Given the description of an element on the screen output the (x, y) to click on. 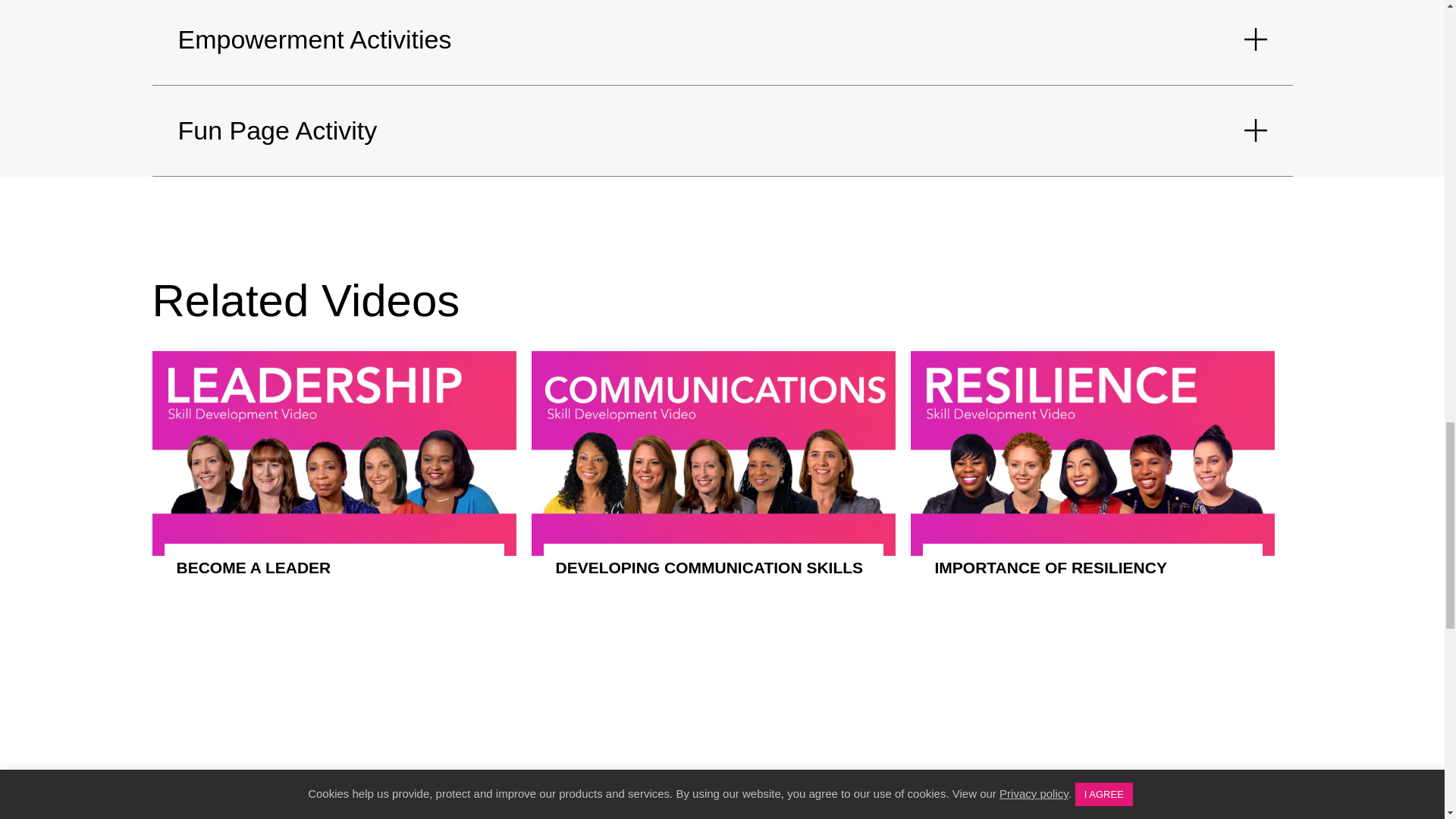
Become a Leader (334, 567)
Importance of Resiliency (1091, 567)
Developing Communication Skills (712, 567)
